Given the description of an element on the screen output the (x, y) to click on. 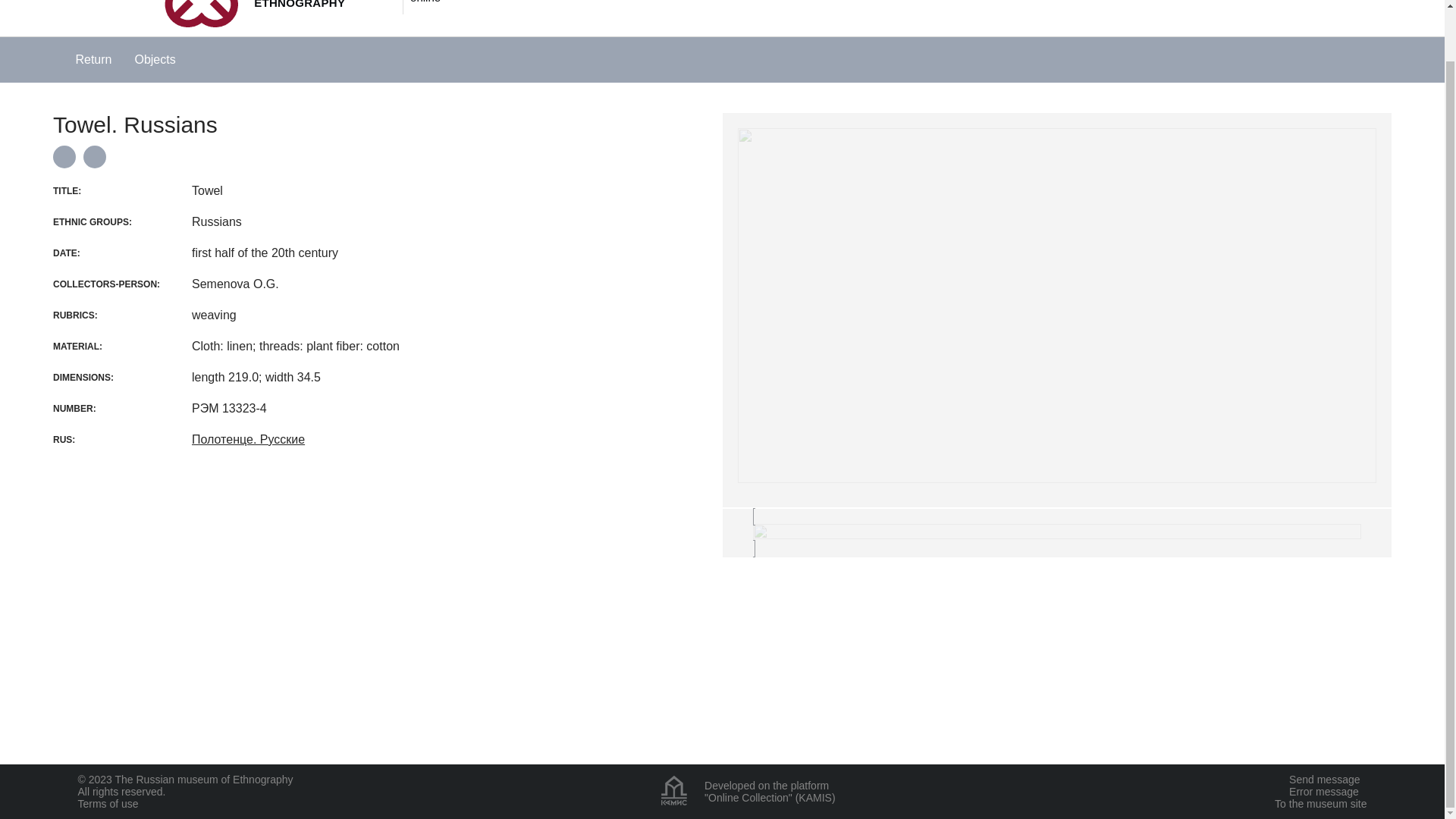
ALBUMS (877, 8)
Return (82, 59)
About (1172, 2)
COLLECTORS (794, 8)
OBJECTS (706, 8)
THE RUSSIAN MUSEUM OF ETHNOGRAPHY (275, 18)
